Given the description of an element on the screen output the (x, y) to click on. 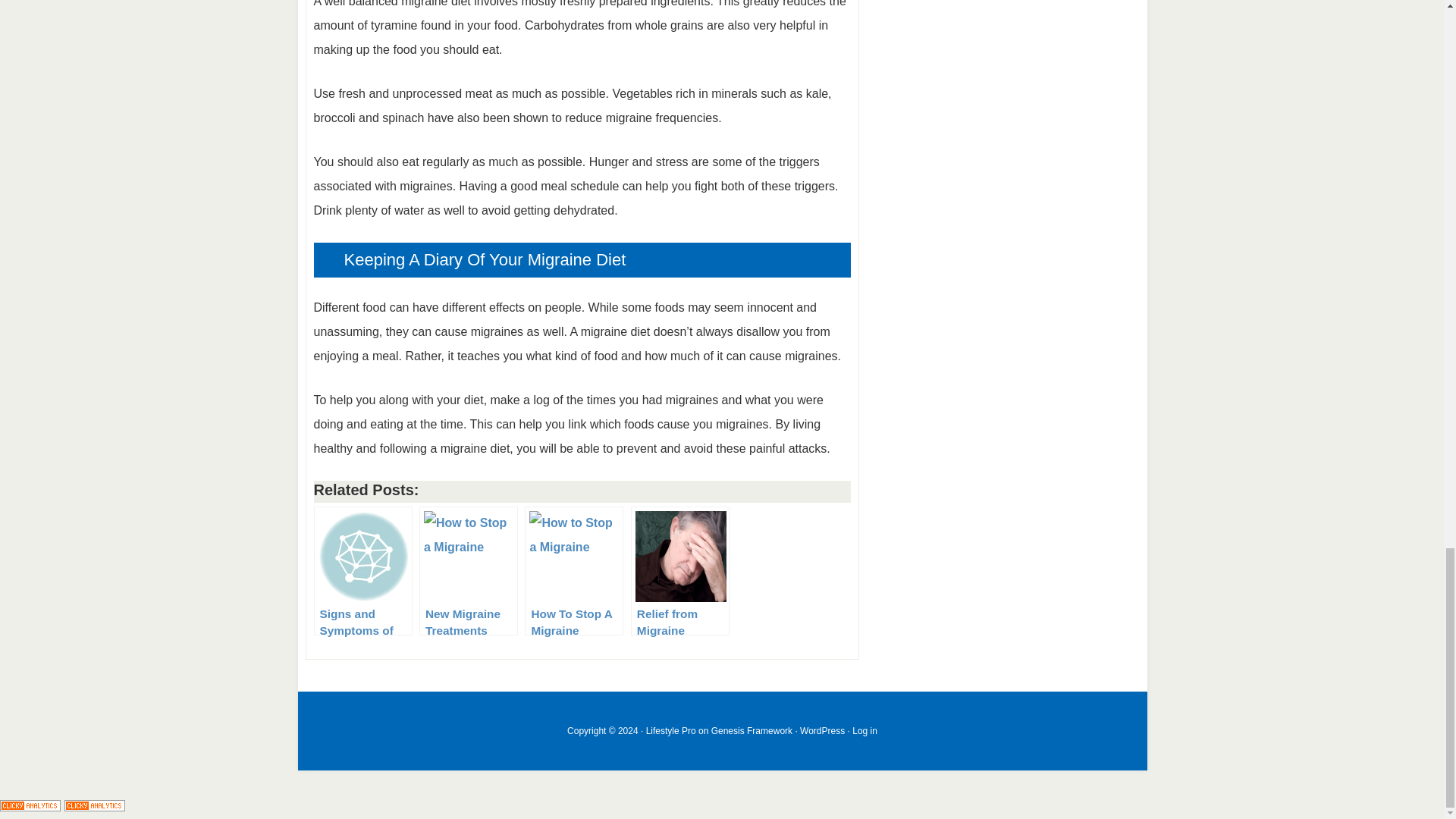
Web Statistics (94, 806)
GDPR-compliant Web Analytics (30, 806)
Lifestyle Pro (670, 730)
Genesis Framework (751, 730)
